Given the description of an element on the screen output the (x, y) to click on. 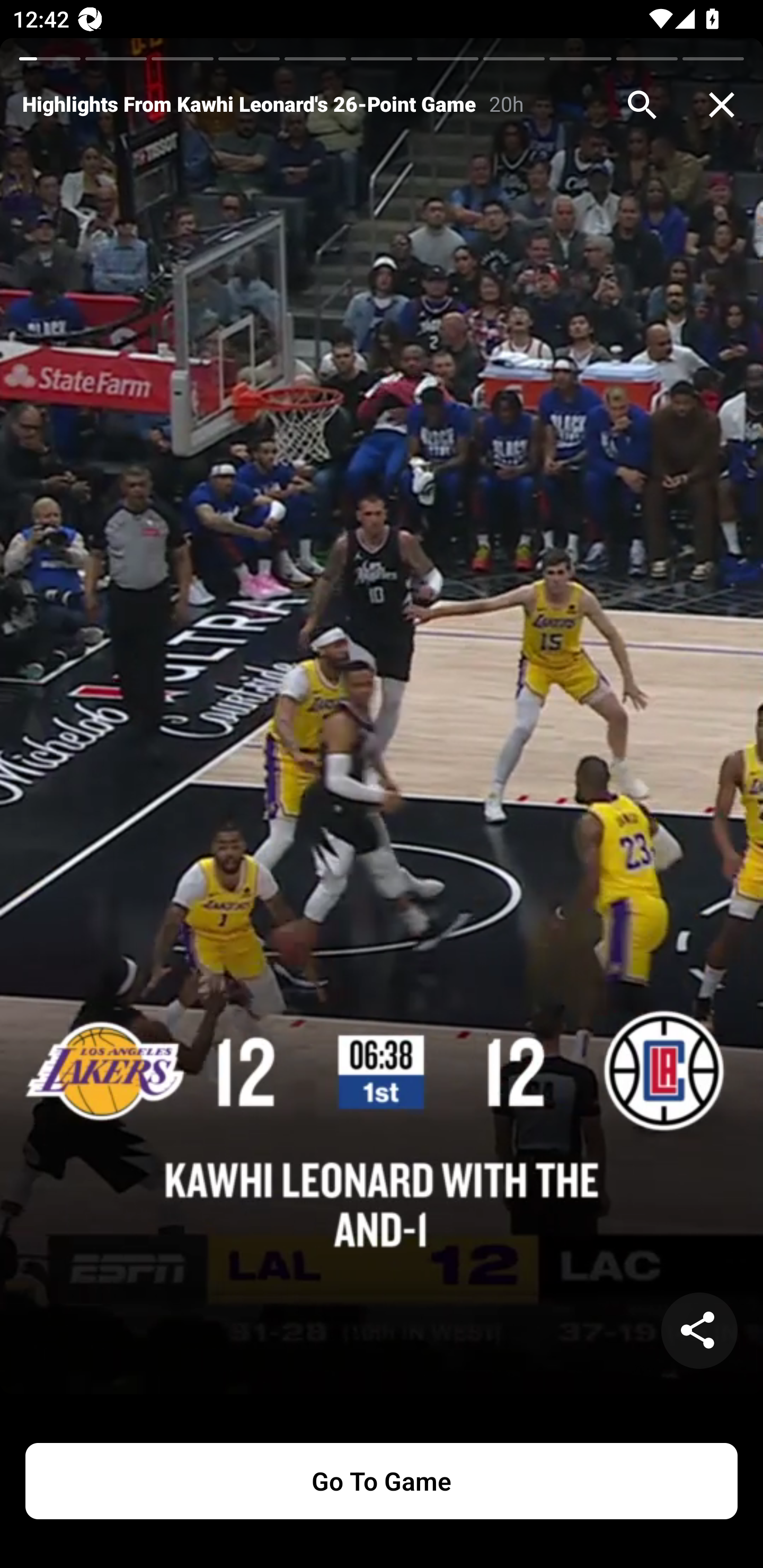
search (642, 104)
close (721, 104)
share (699, 1330)
Go To Game (381, 1480)
